Given the description of an element on the screen output the (x, y) to click on. 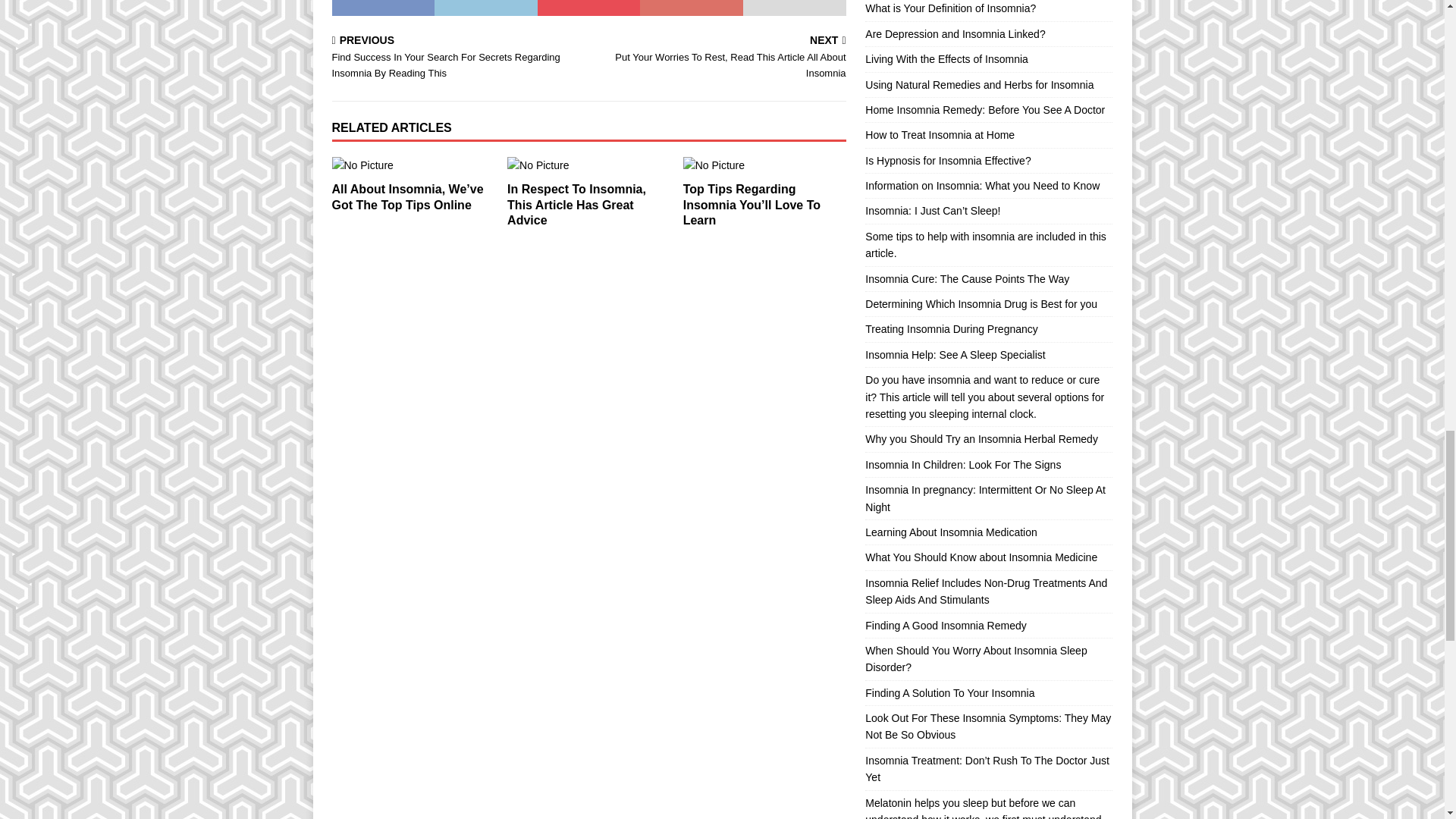
In Respect To Insomnia, This Article Has Great Advice (576, 204)
